Given the description of an element on the screen output the (x, y) to click on. 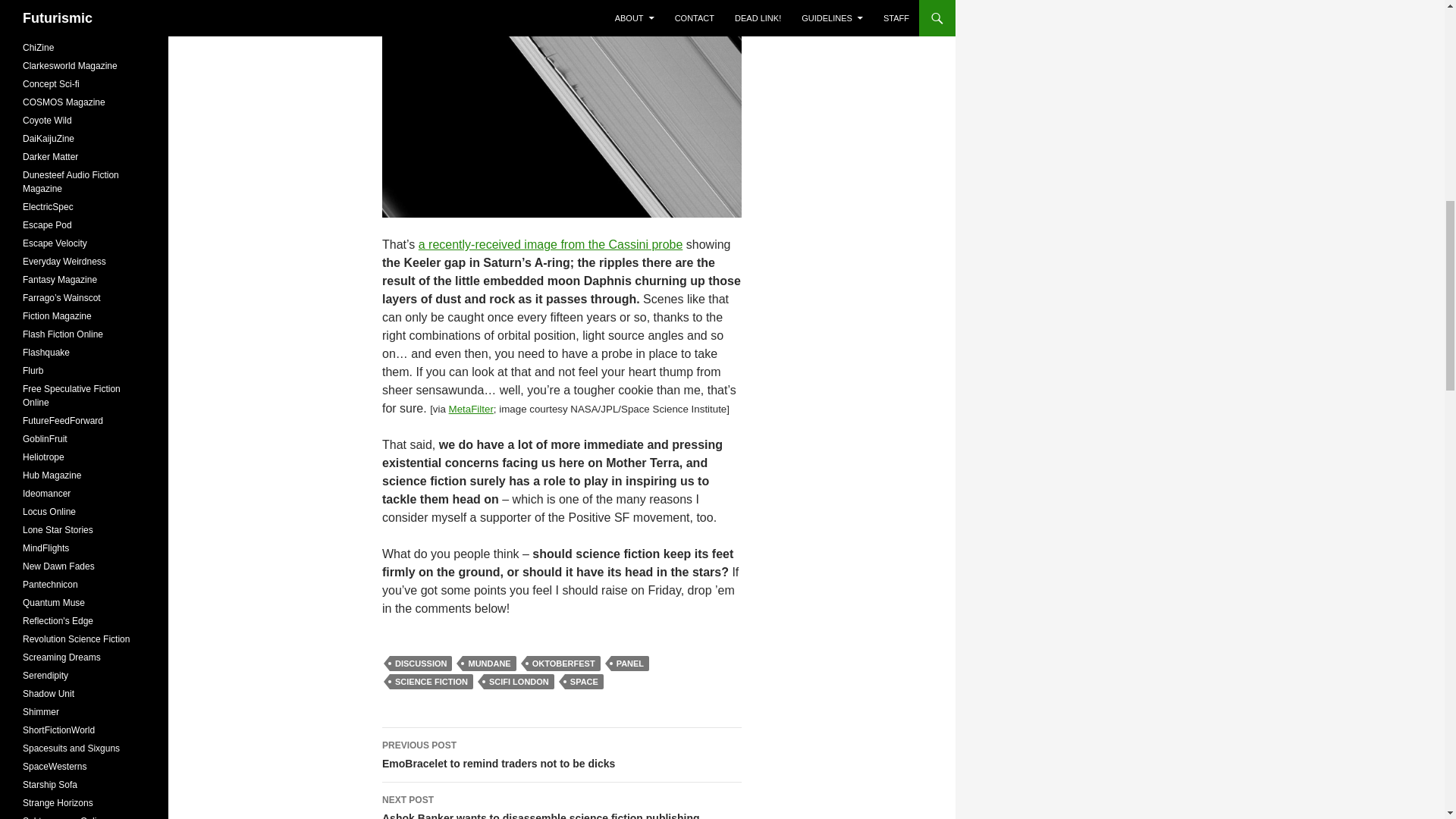
MetaFilter (470, 408)
a recently-received image from the Cassini probe (550, 244)
SPACE (561, 755)
DISCUSSION (584, 681)
SCIENCE FICTION (420, 663)
Saturn at Equinox - Boston Globe (431, 681)
SCIFI LONDON (550, 244)
MUNDANE (518, 681)
The Keeler gaap in Saturn's A Ring (489, 663)
OKTOBERFEST (561, 109)
Saturn at Equinox - MetaFilter (563, 663)
PANEL (470, 408)
